Given the description of an element on the screen output the (x, y) to click on. 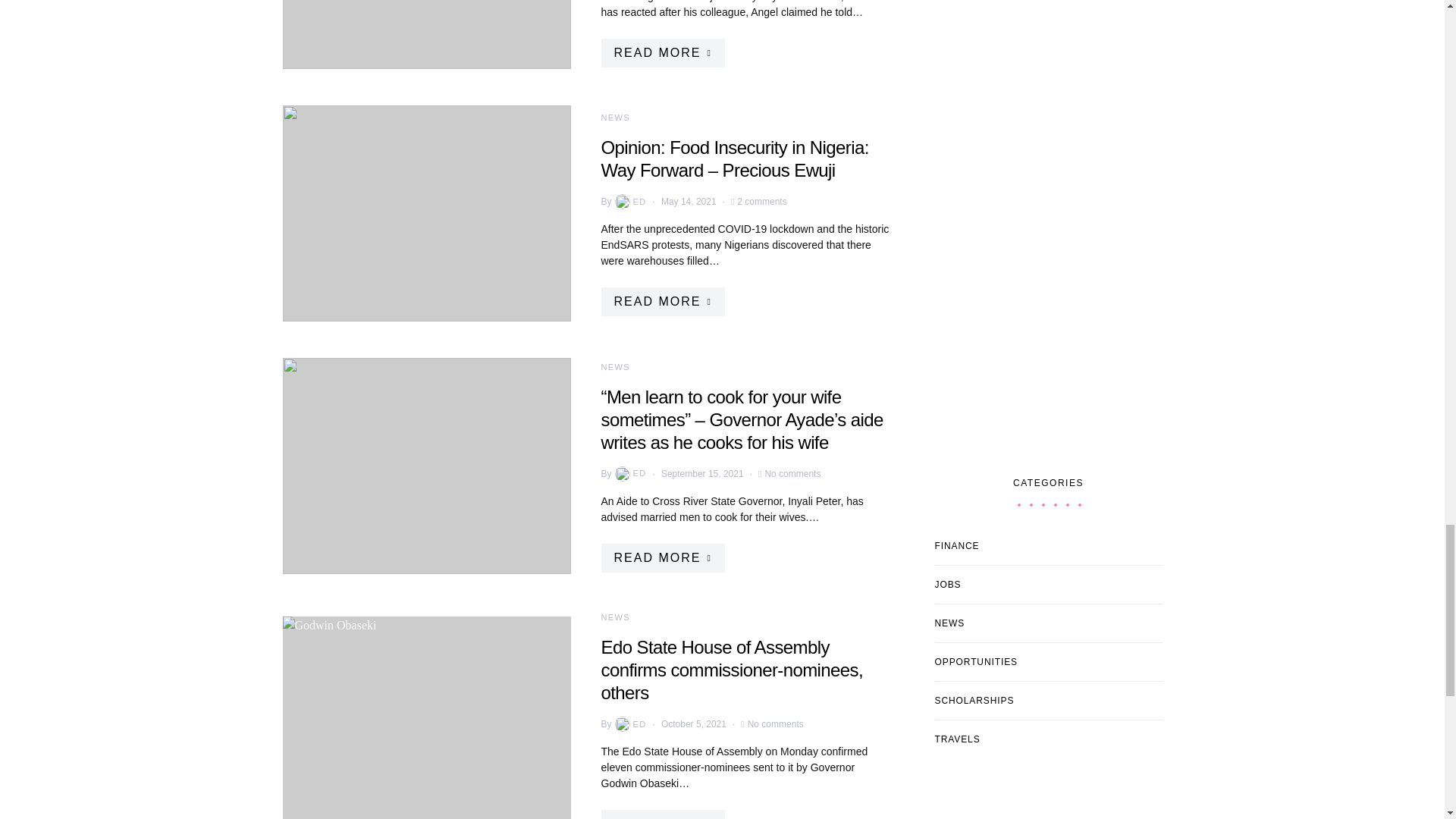
View all posts by ED (628, 201)
View all posts by ED (628, 724)
View all posts by ED (628, 473)
